Given the description of an element on the screen output the (x, y) to click on. 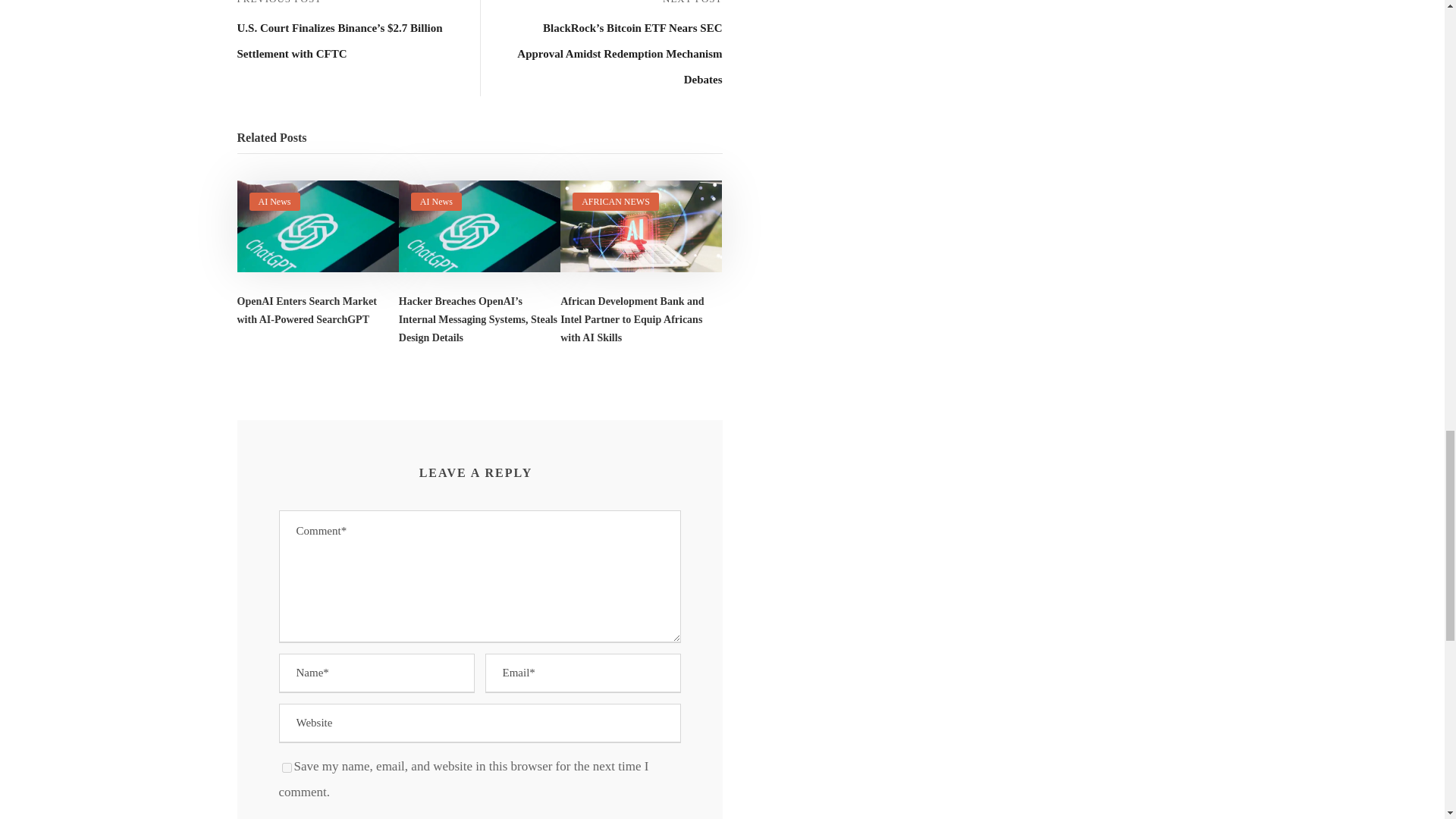
AI News (273, 201)
yes (287, 767)
OpenAI Enters Search Market with AI-Powered SearchGPT (305, 310)
